Given the description of an element on the screen output the (x, y) to click on. 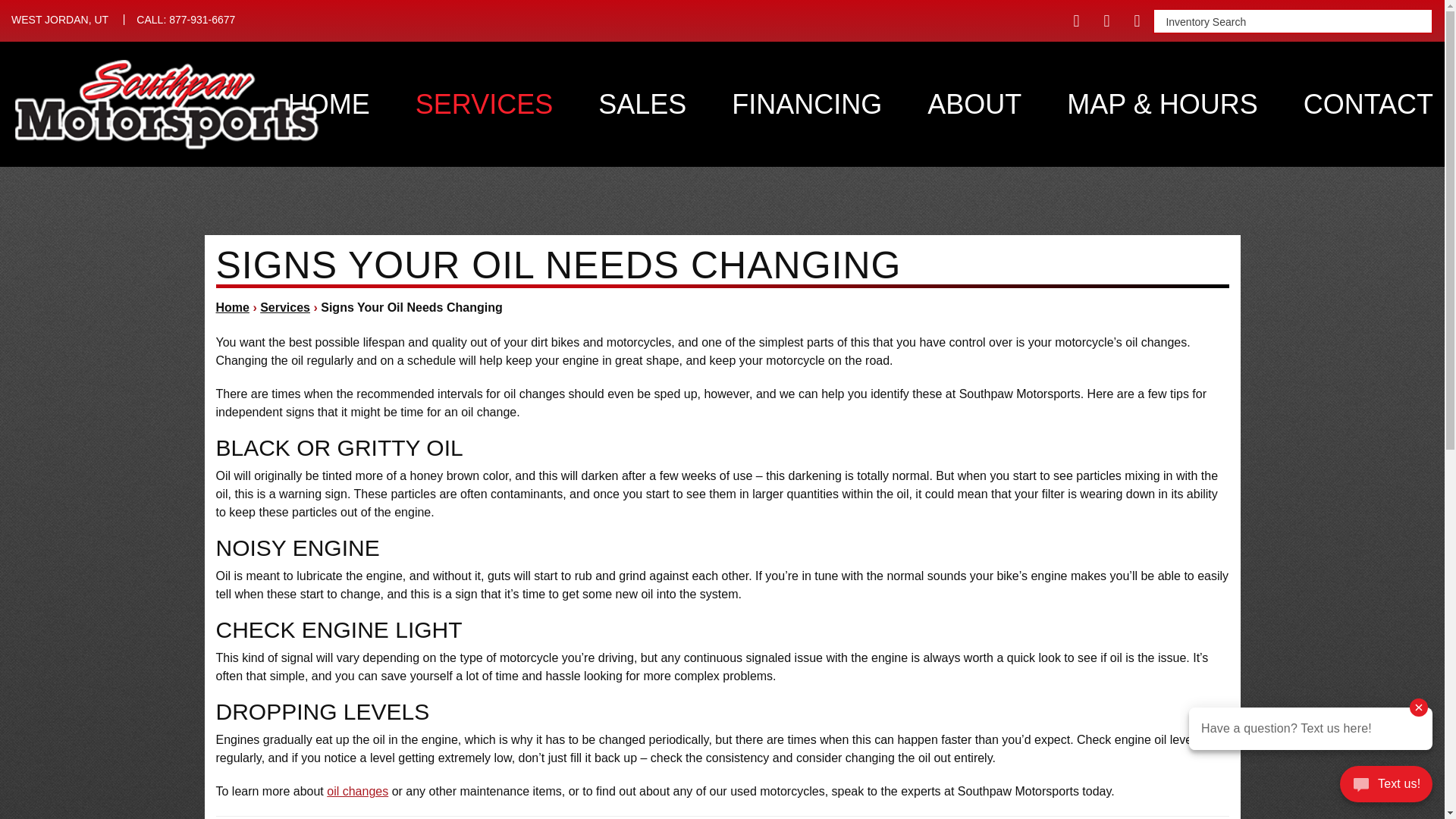
SALES (641, 103)
FINANCING (806, 103)
ABOUT (973, 103)
SERVICES (185, 20)
WEST JORDAN, UT  (484, 103)
HOME (61, 20)
Southpaw Motorsports (328, 103)
